Given the description of an element on the screen output the (x, y) to click on. 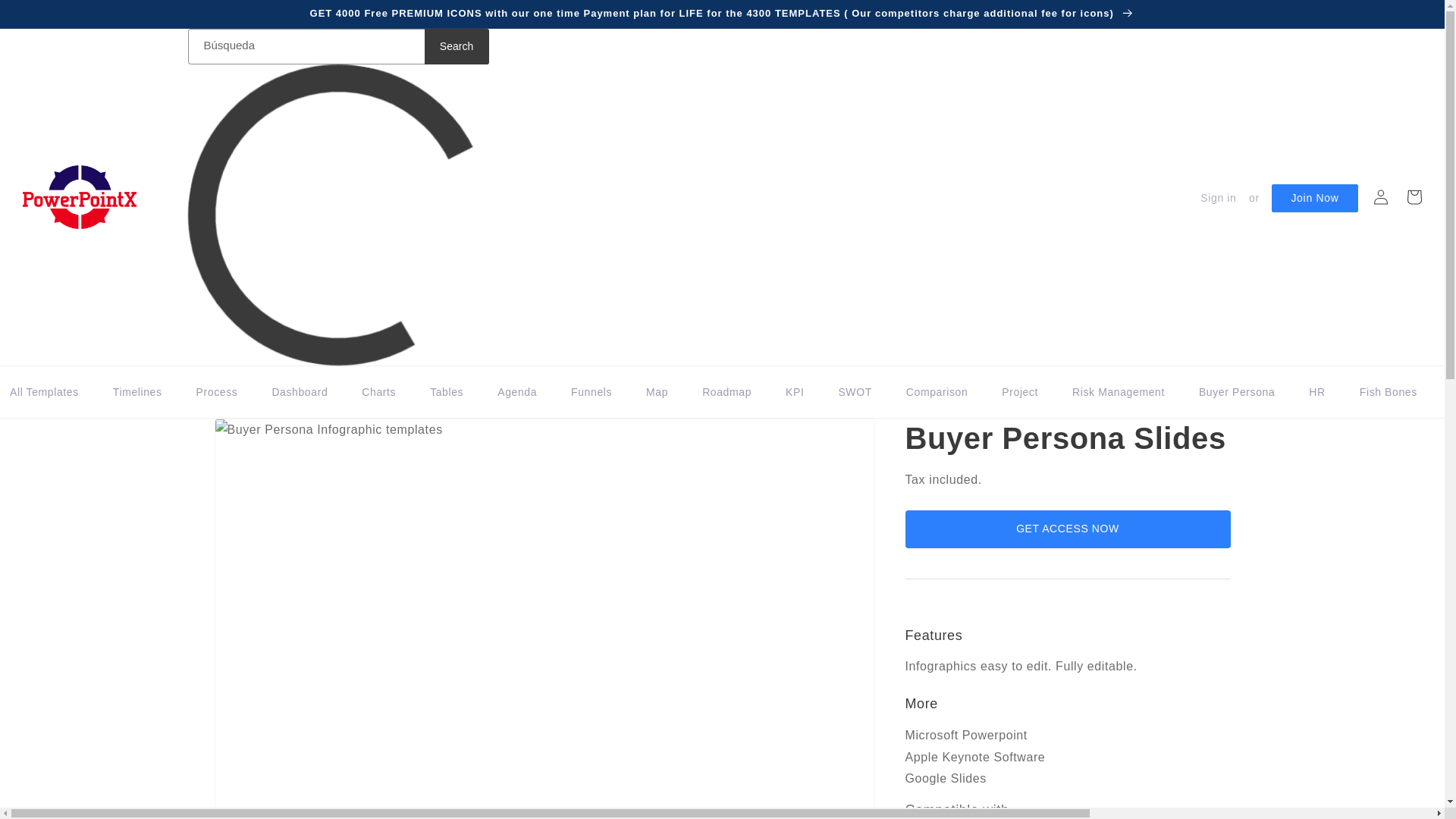
Charts (376, 400)
Process (215, 400)
All Templates (47, 400)
Ir directamente al contenido (45, 17)
Sign in (1217, 197)
Tables (444, 400)
Join Now (1313, 198)
Search (457, 46)
Carrito (1414, 196)
Timelines (135, 400)
